Given the description of an element on the screen output the (x, y) to click on. 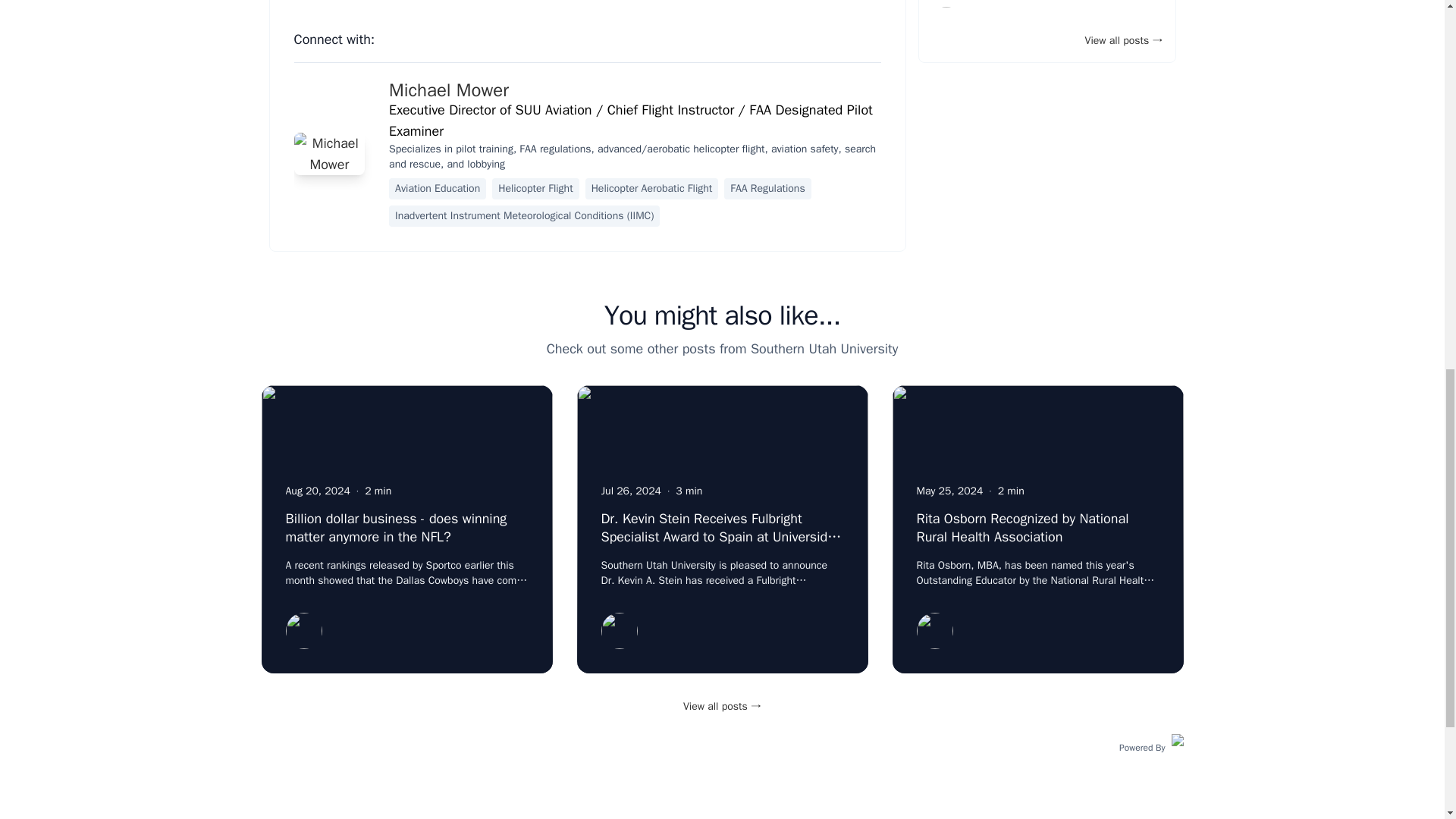
Michael Mower (448, 89)
Powered By (1150, 745)
Rita Osborn Recognized by National Rural Health Association (1021, 527)
